Given the description of an element on the screen output the (x, y) to click on. 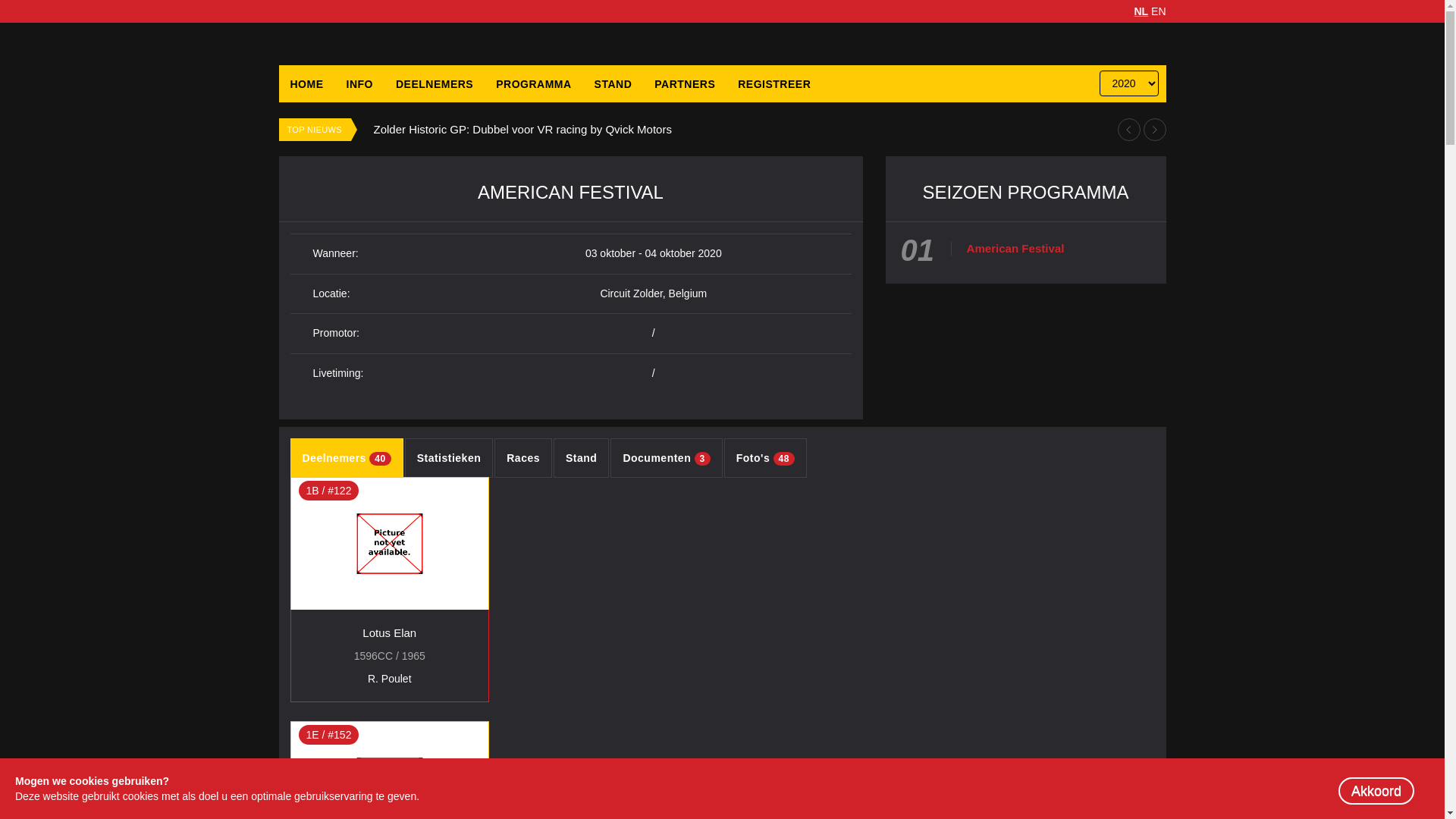
Stand Element type: text (580, 457)
Documenten 3 Element type: text (665, 457)
Akkoord Element type: text (1376, 790)
INFO Element type: text (359, 84)
DEELNEMERS Element type: text (434, 84)
PROGRAMMA Element type: text (533, 84)
PARTNERS Element type: text (684, 84)
STAND Element type: text (613, 84)
Statistieken Element type: text (448, 457)
REGISTREER Element type: text (774, 84)
EN Element type: text (1158, 11)
R. Poulet Element type: text (389, 678)
All information on Spa 6 Hours Element type: text (450, 128)
Races Element type: text (523, 457)
HOME Element type: text (307, 84)
NL Element type: text (1140, 11)
Foto's 48 Element type: text (765, 457)
American Festival Element type: text (1014, 247)
Deelnemers 40 Element type: text (345, 457)
